Given the description of an element on the screen output the (x, y) to click on. 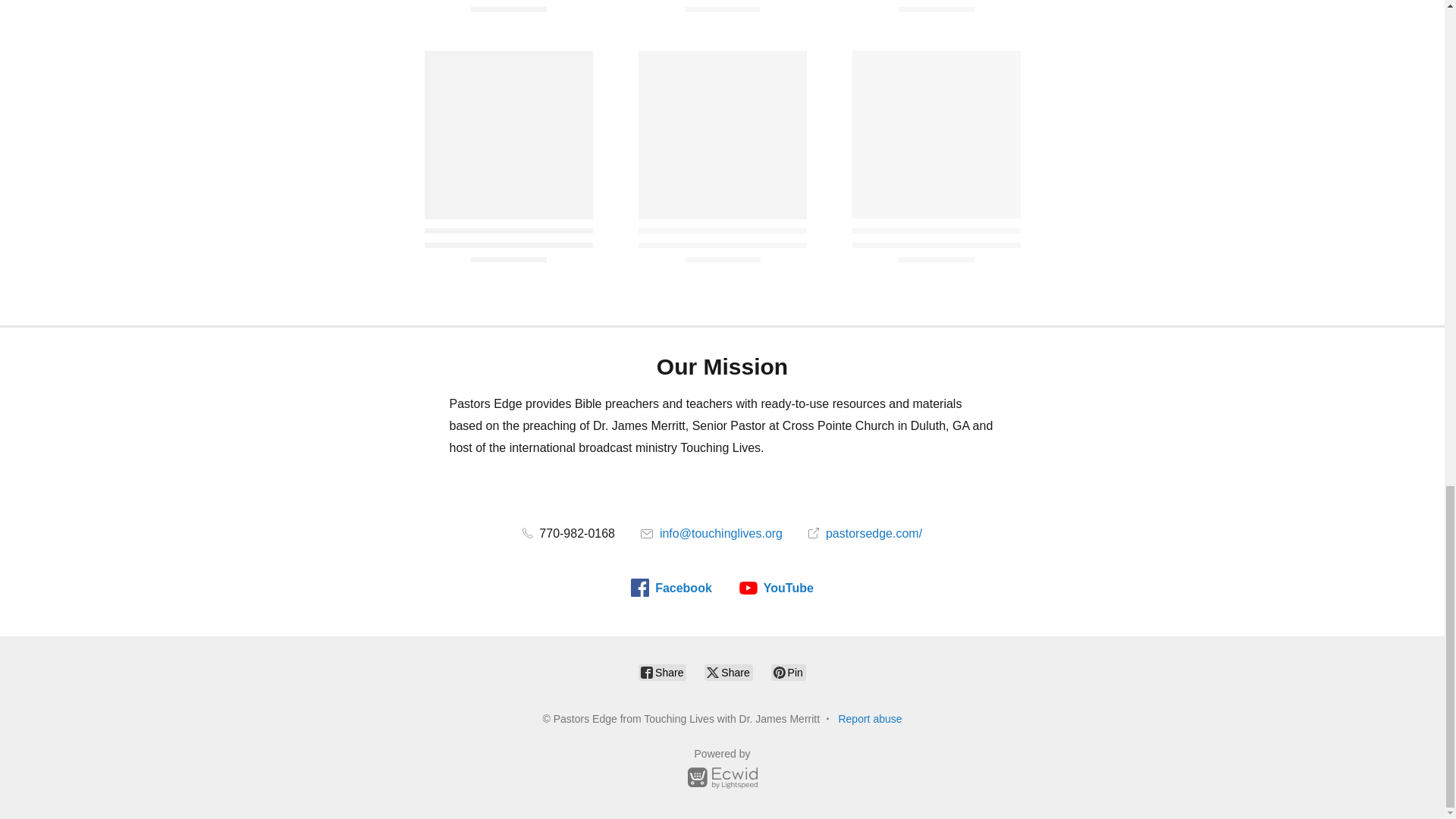
770-982-0168 (568, 533)
Report abuse (869, 718)
YouTube (776, 587)
Powered by (722, 770)
Share (662, 672)
Share (728, 672)
Pin (788, 672)
Facebook (670, 587)
